Given the description of an element on the screen output the (x, y) to click on. 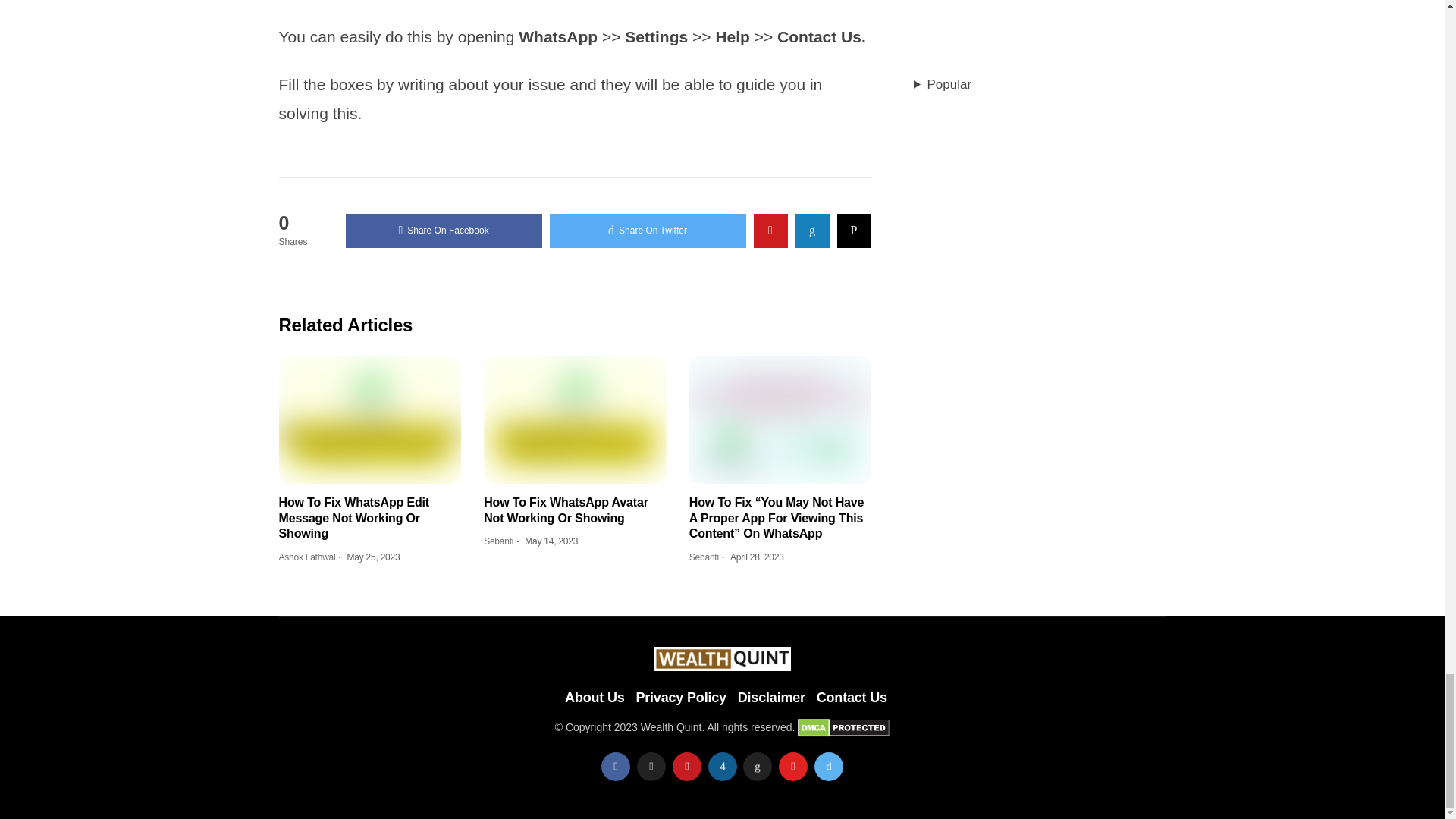
How to Fix WhatsApp Avatar Not Working Or Showing 4 (574, 420)
Posts by Ashok Lathwal (307, 557)
Posts by Sebanti (498, 541)
How to Fix WhatsApp Edit Message Not Working or Showing 3 (370, 420)
Posts by Sebanti (703, 557)
